Given the description of an element on the screen output the (x, y) to click on. 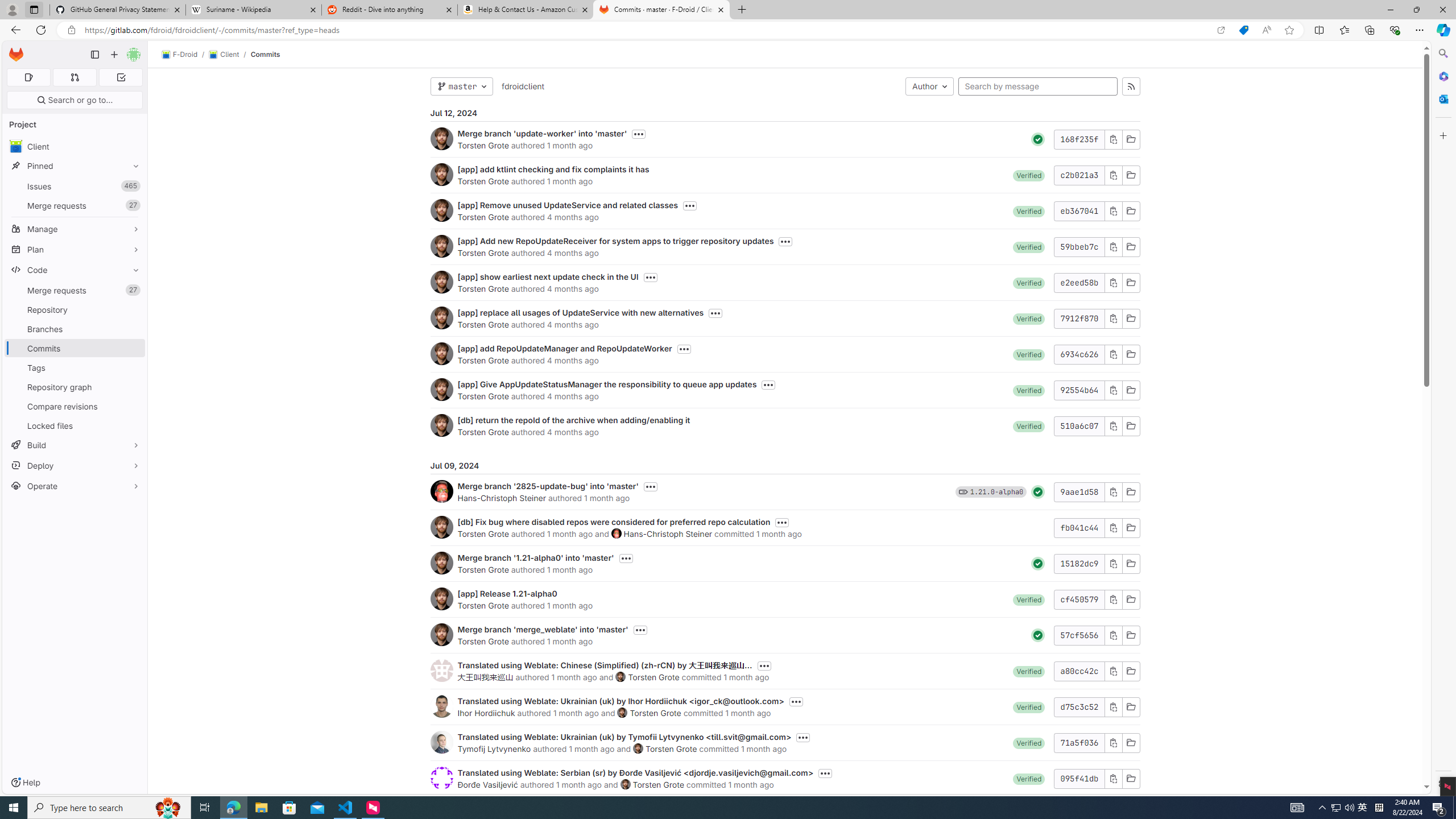
To-Do list 0 (120, 76)
Copy commit SHA (1112, 778)
1.21.0-alpha0 (996, 491)
Client/ (229, 54)
Compare revisions (74, 406)
Repository (74, 309)
Torsten Grote's avatar (625, 783)
Ihor Hordiichuk's avatar (440, 706)
